Given the description of an element on the screen output the (x, y) to click on. 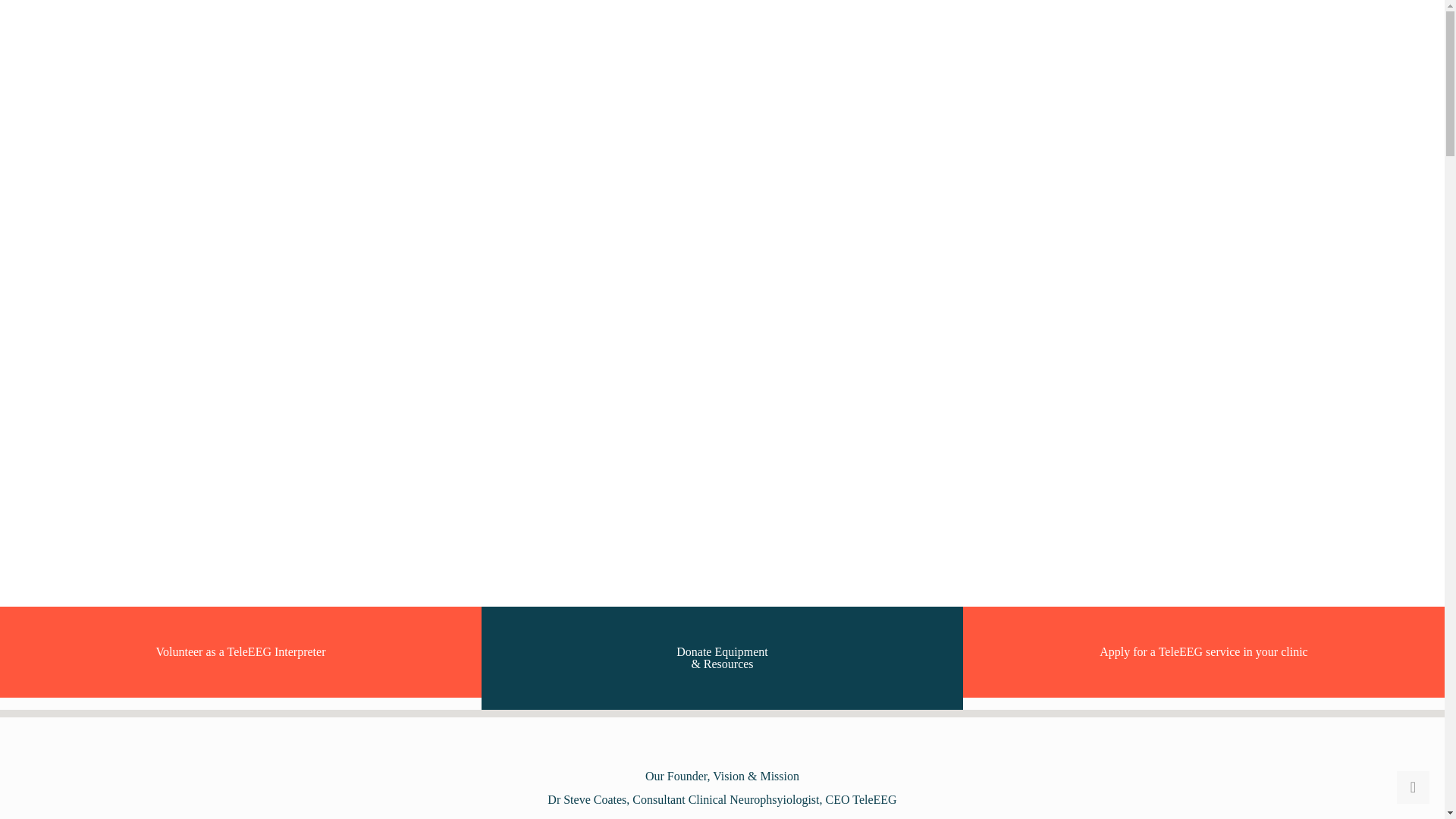
Volunteer as a TeleEEG Interpreter (240, 652)
Apply for a TeleEEG service in your clinic (1202, 652)
